Given the description of an element on the screen output the (x, y) to click on. 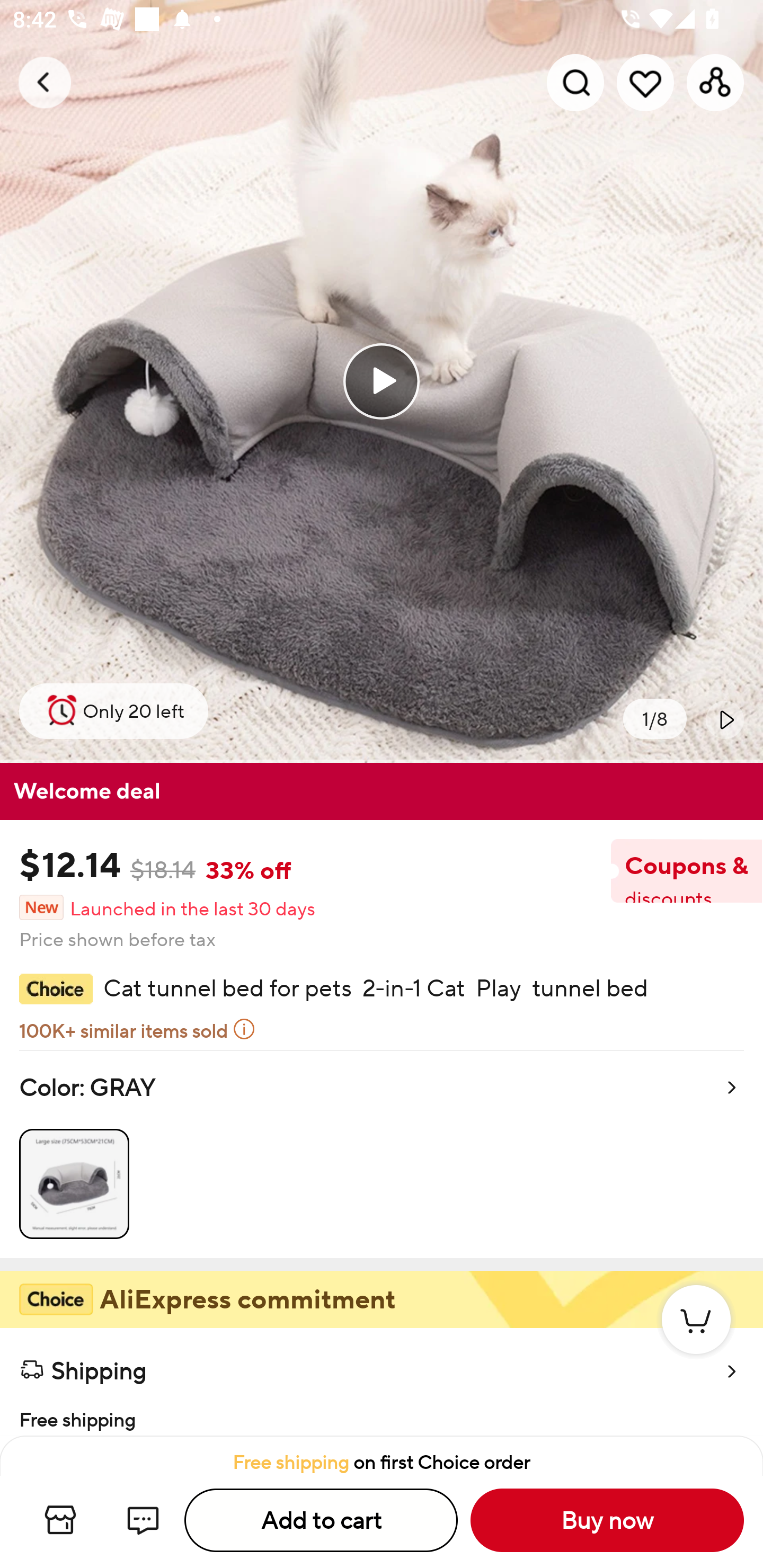
0.0 (381, 381)
Navigate up (44, 82)
 (724, 719)
Color: GRAY  (381, 1153)
Shipping  Free shipping  (381, 1382)
Free shipping  (381, 1414)
Add to cart (320, 1520)
Buy now (606, 1520)
